Given the description of an element on the screen output the (x, y) to click on. 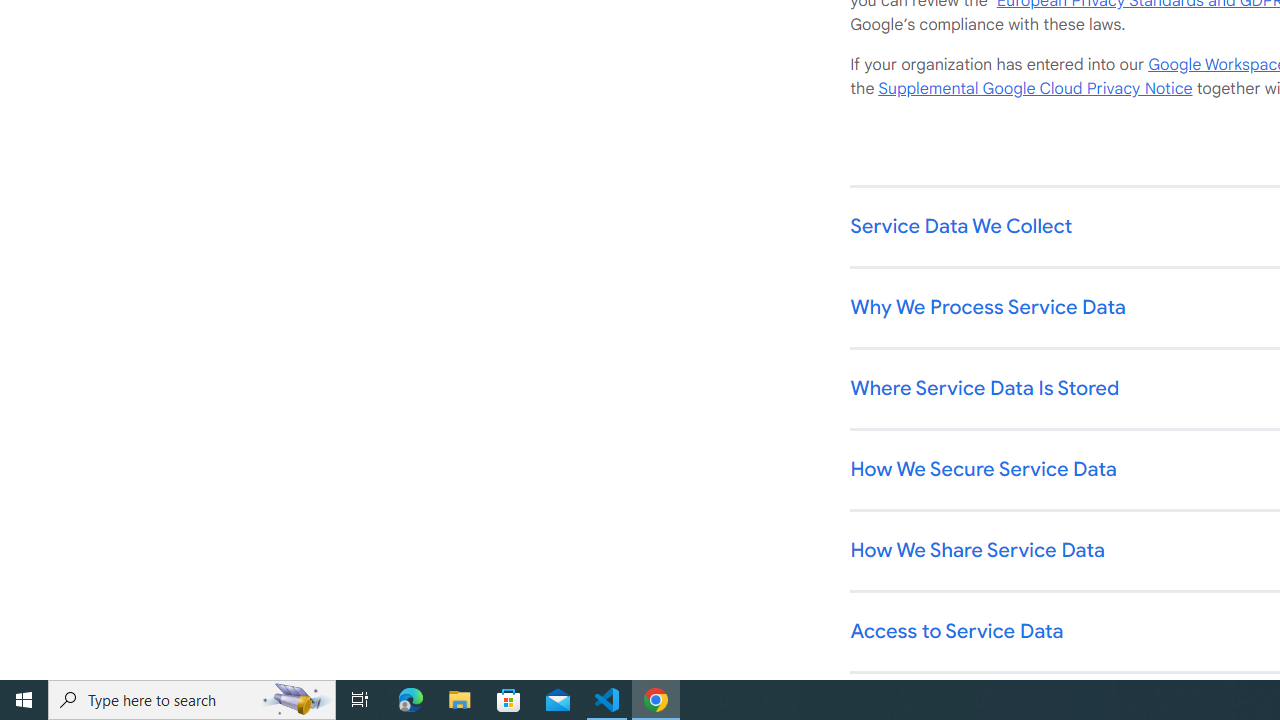
Supplemental Google Cloud Privacy Notice (1035, 89)
